Given the description of an element on the screen output the (x, y) to click on. 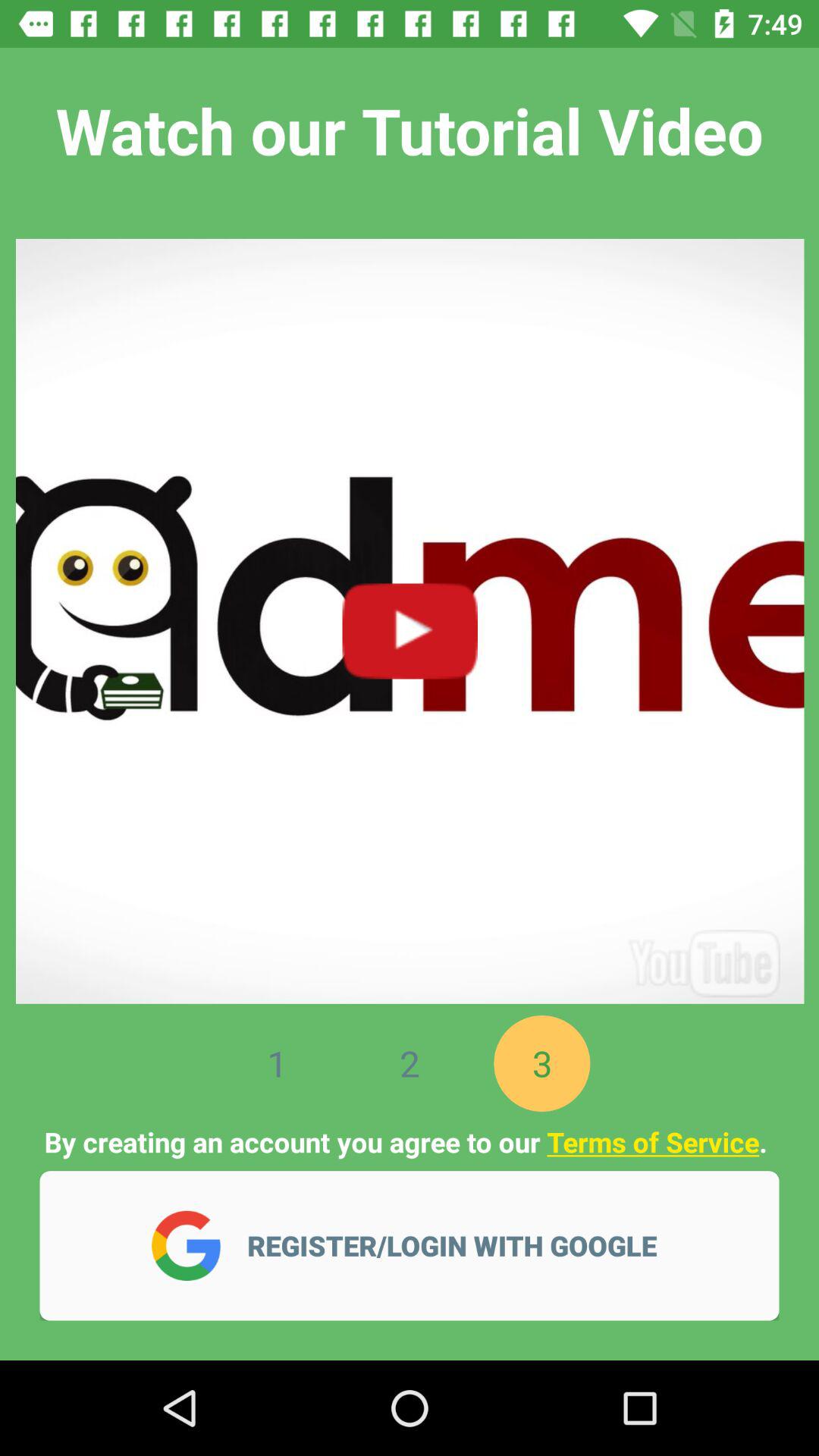
play video (409, 612)
